Given the description of an element on the screen output the (x, y) to click on. 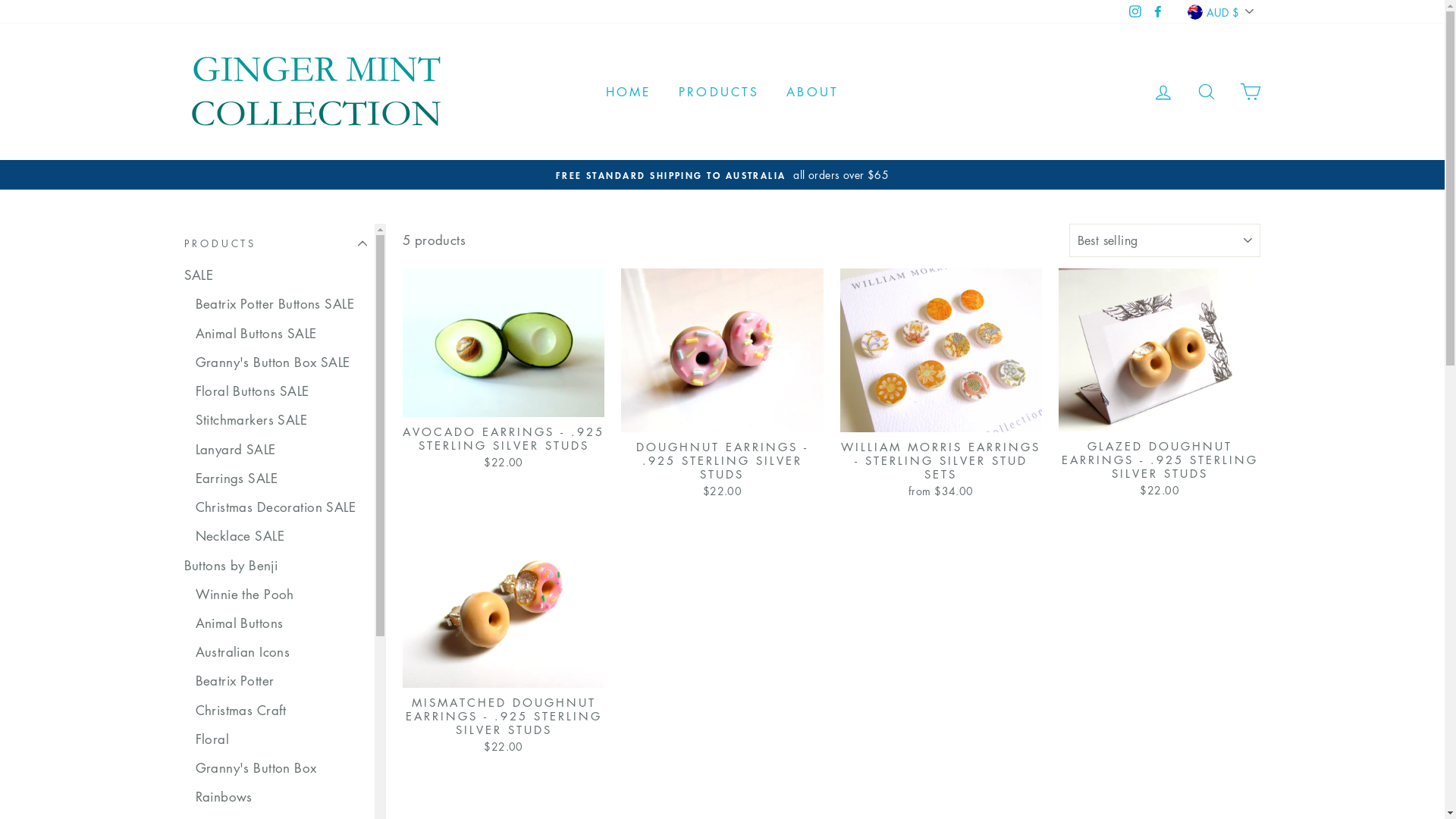
ABOUT Element type: text (812, 92)
AUD $ Element type: text (1221, 11)
Floral Buttons SALE Element type: text (281, 391)
GLAZED DOUGHNUT EARRINGS - .925 STERLING SILVER STUDS
$22.00 Element type: text (1159, 384)
Facebook Element type: text (1157, 11)
Winnie the Pooh Element type: text (281, 593)
Skip to content Element type: text (0, 0)
Necklace SALE Element type: text (281, 536)
HOME Element type: text (628, 92)
LOG IN Element type: text (1163, 91)
CART Element type: text (1249, 91)
Australian Icons Element type: text (281, 652)
SALE Element type: text (274, 275)
Lanyard SALE Element type: text (281, 449)
Christmas Craft Element type: text (281, 710)
Rainbows Element type: text (281, 796)
Granny's Button Box SALE Element type: text (281, 362)
Christmas Decoration SALE Element type: text (281, 507)
Stitchmarkers SALE Element type: text (281, 420)
Animal Buttons Element type: text (281, 623)
Earrings SALE Element type: text (281, 478)
PRODUCTS Element type: text (274, 242)
Floral Element type: text (281, 739)
Instagram Element type: text (1135, 11)
Beatrix Potter Element type: text (281, 680)
PRODUCTS Element type: text (719, 92)
Buttons by Benji Element type: text (274, 564)
Granny's Button Box Element type: text (281, 768)
SEARCH Element type: text (1206, 91)
AVOCADO EARRINGS - .925 STERLING SILVER STUDS
$22.00 Element type: text (503, 370)
Animal Buttons SALE Element type: text (281, 332)
Beatrix Potter Buttons SALE Element type: text (281, 303)
DOUGHNUT EARRINGS - .925 STERLING SILVER STUDS
$22.00 Element type: text (721, 385)
